Given the description of an element on the screen output the (x, y) to click on. 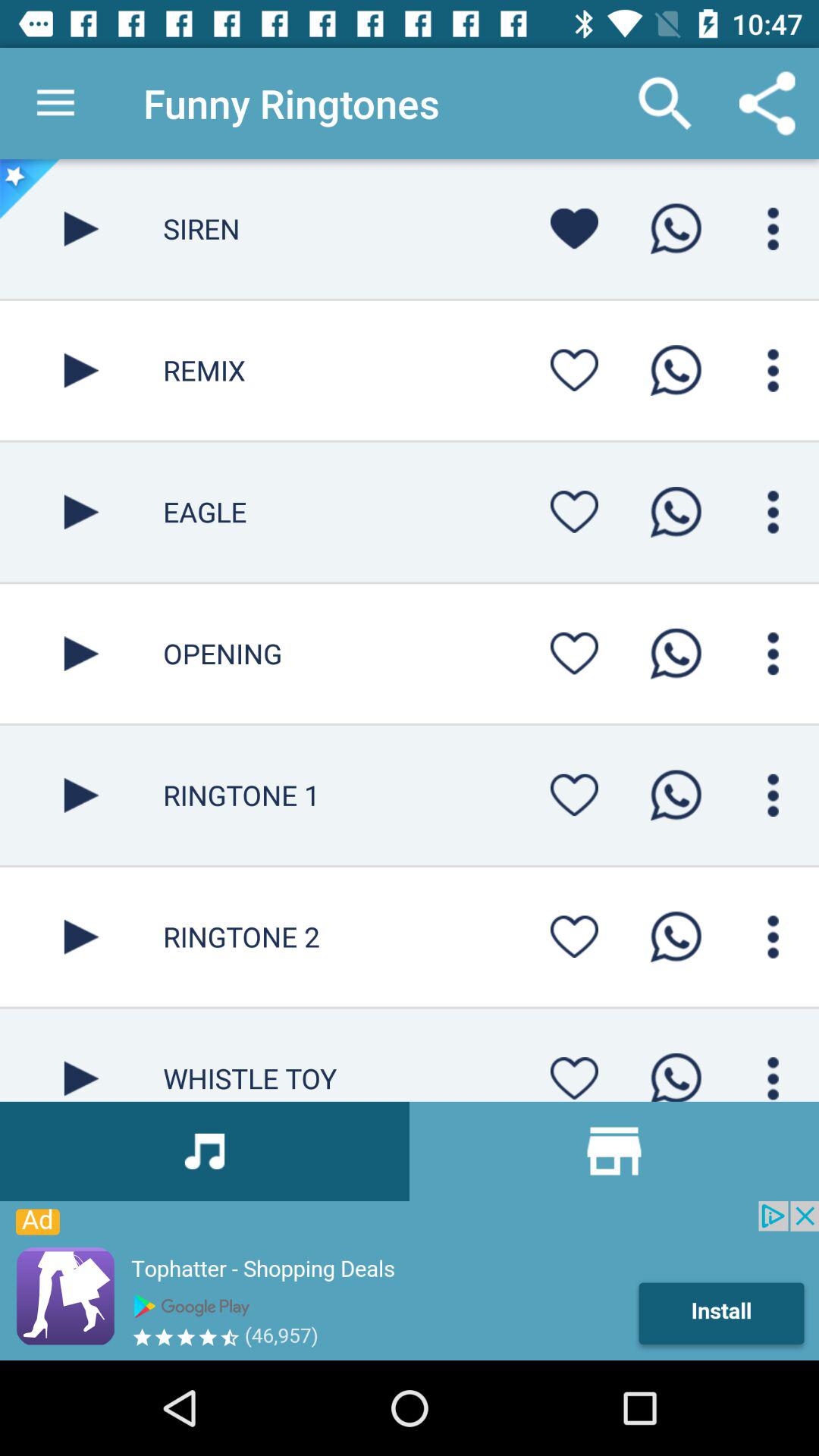
favorite flag (574, 1074)
